Given the description of an element on the screen output the (x, y) to click on. 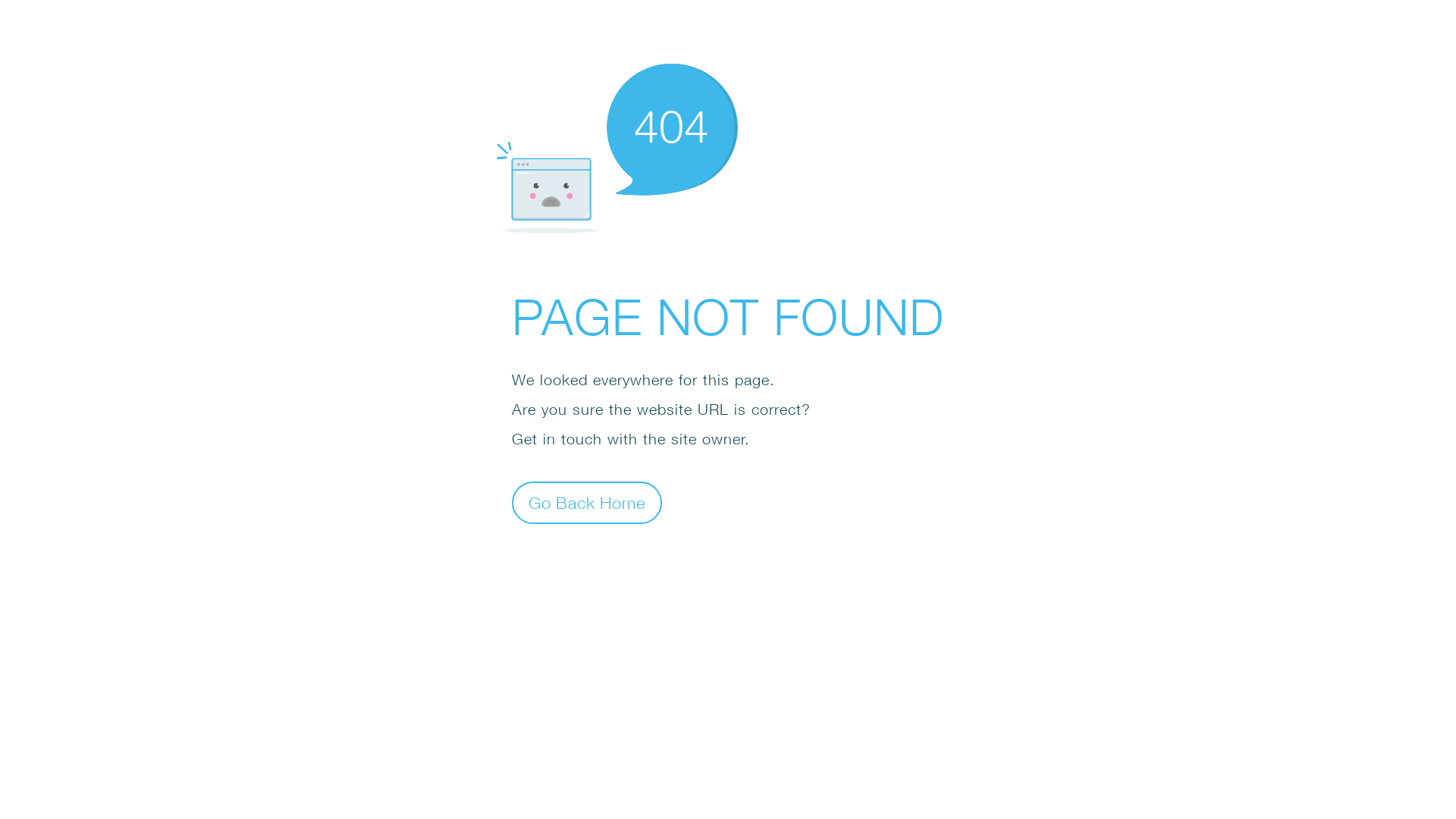
Go Back Home Element type: text (586, 502)
